Given the description of an element on the screen output the (x, y) to click on. 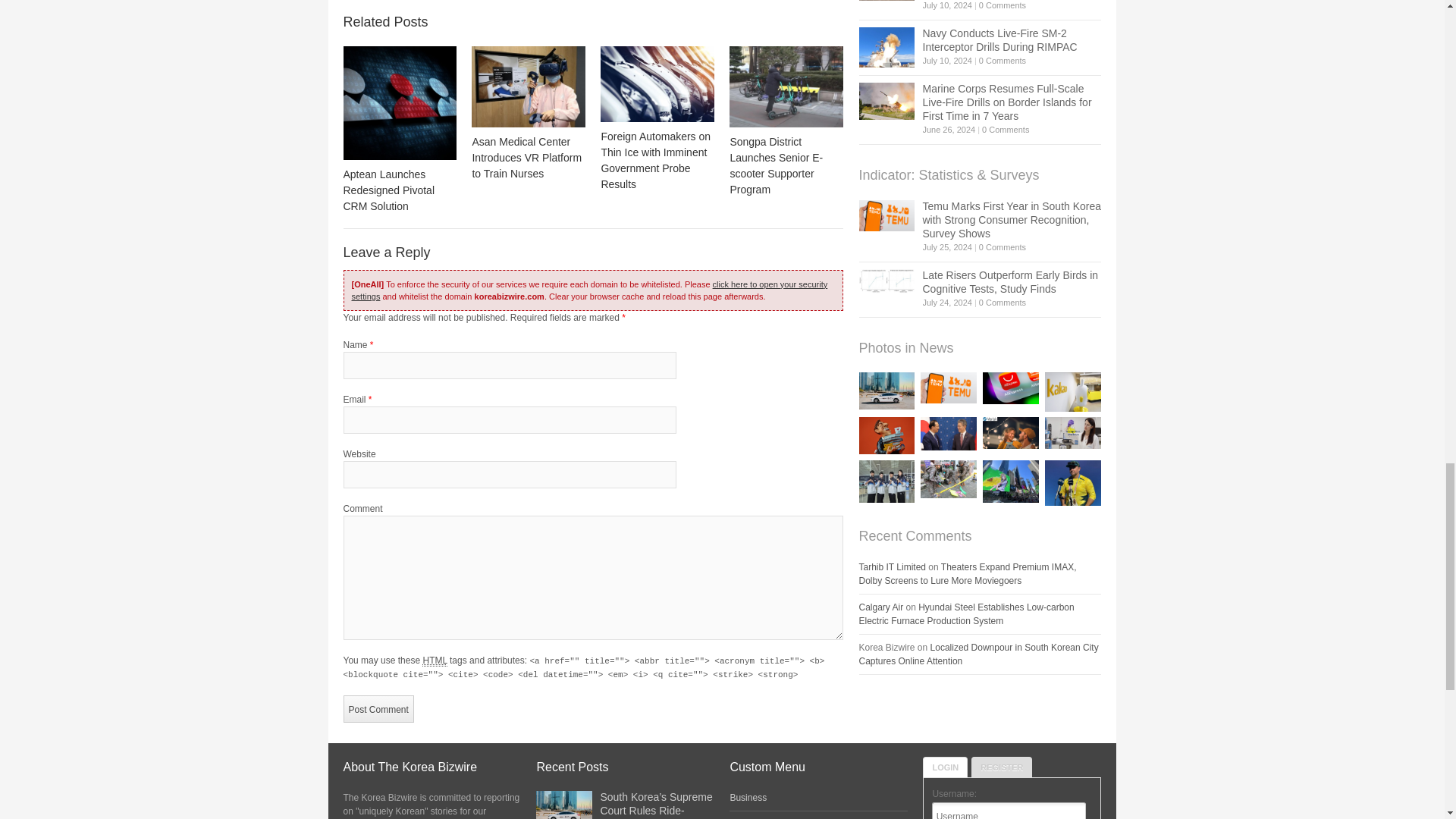
Aptean Launches Redesigned Pivotal CRM Solution (399, 102)
Post Comment (377, 708)
